Given the description of an element on the screen output the (x, y) to click on. 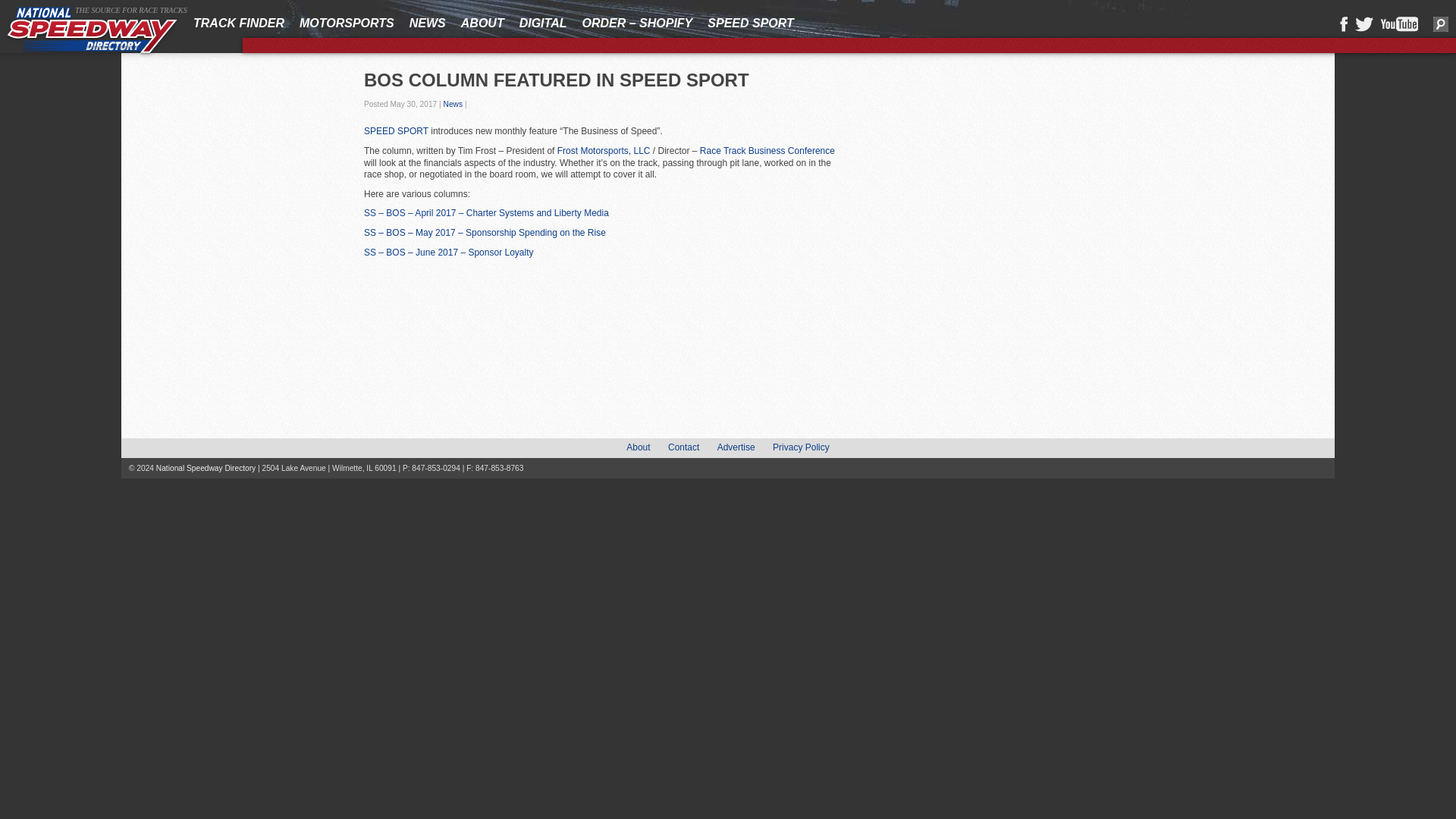
ABOUT (482, 22)
MOTORSPORTS (346, 22)
NEWS (427, 22)
National Speedway Directory (92, 31)
National Speedway Directory YouTube Channel (1399, 23)
NATIONAL SPEEDWAY DIRECTORY (92, 31)
SPEED SPORT (750, 22)
TRACK FINDER (238, 22)
DIGITAL (543, 22)
Follow National Speedway Directory on Twitter (1364, 23)
